Given the description of an element on the screen output the (x, y) to click on. 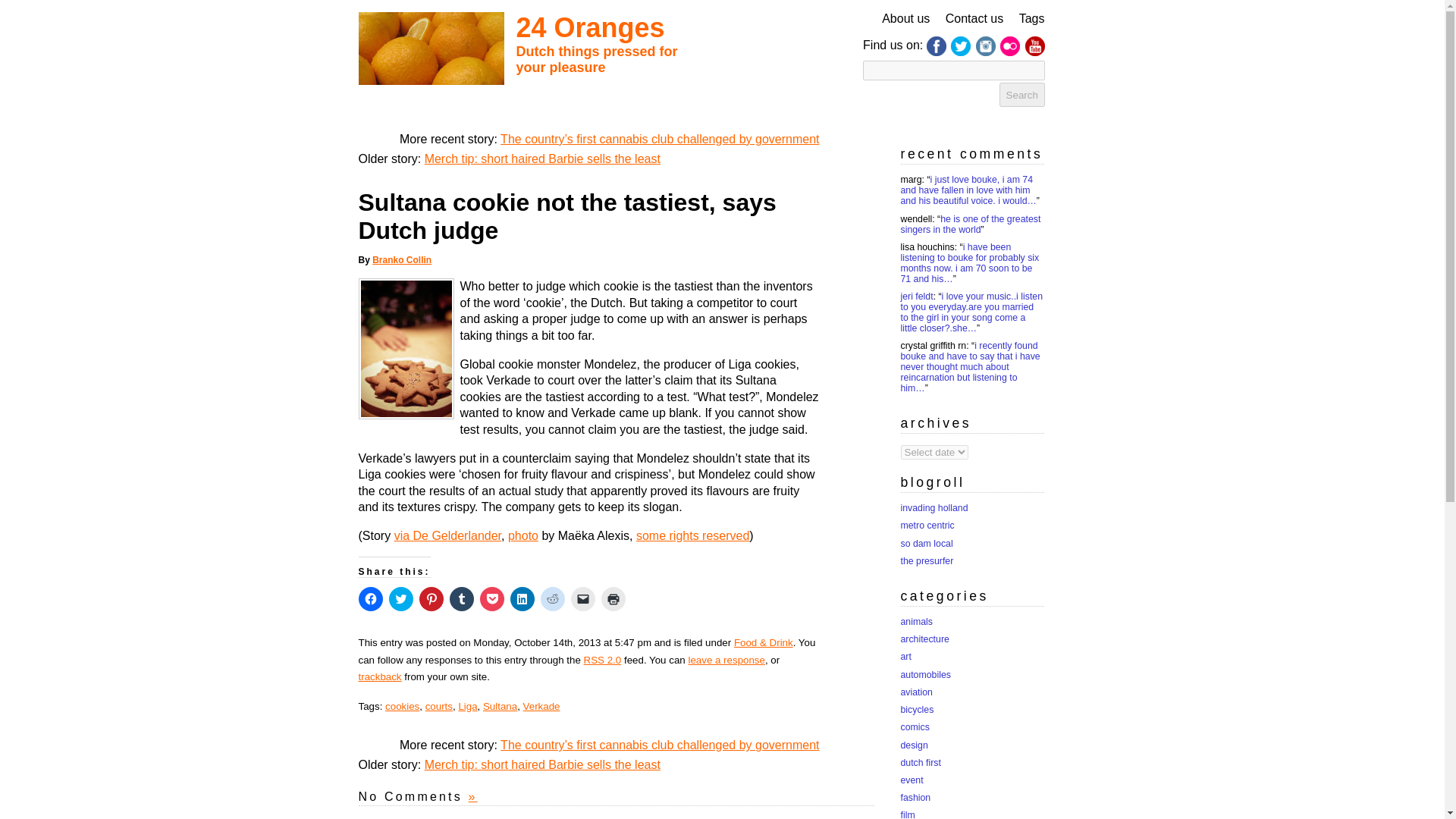
Merch tip: short haired Barbie sells the least (543, 764)
24 Oranges (589, 27)
About us (906, 18)
cookies (402, 706)
Branko Collin (401, 259)
photo (523, 535)
courts (438, 706)
RSS 2.0 (602, 659)
Contact us (973, 18)
via De Gelderlander (447, 535)
some rights reserved (692, 535)
Liga (467, 706)
Tags (1032, 18)
Search (1021, 94)
Search (1021, 94)
